Given the description of an element on the screen output the (x, y) to click on. 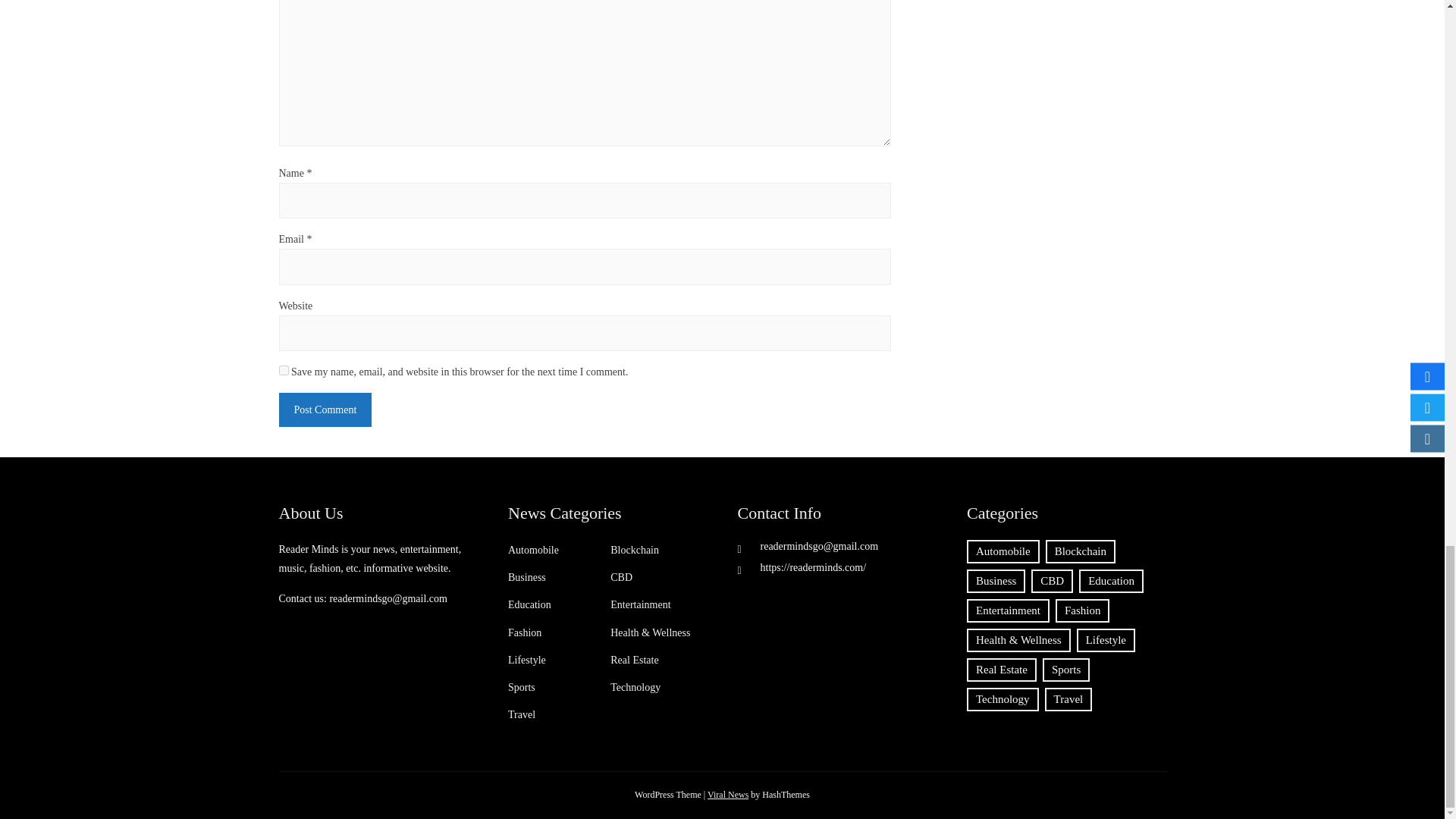
Post Comment (325, 409)
Download Viral News (727, 794)
Post Comment (325, 409)
yes (283, 370)
